Given the description of an element on the screen output the (x, y) to click on. 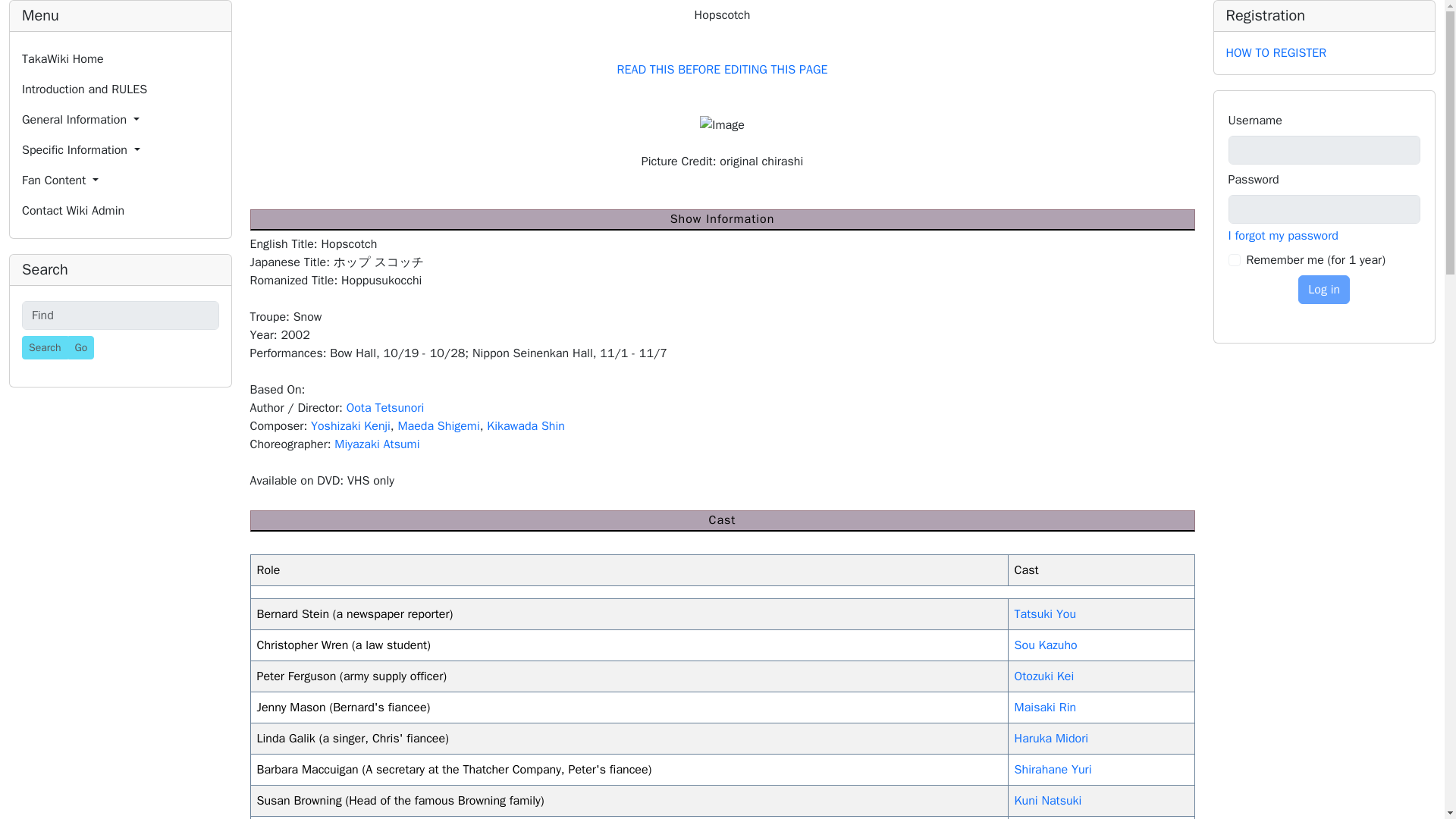
Sou Kazuho (1045, 645)
Yoshizaki Kenji (350, 426)
Otozuki Kei (1044, 676)
Search (44, 347)
Maisaki Rin (1044, 707)
Haruka Midori (1050, 738)
Kuni Natsuki (1047, 800)
READ THIS BEFORE EDITING THIS PAGE (722, 69)
Kikawada Shin (525, 426)
Miyazaki Atsumi (376, 444)
